Given the description of an element on the screen output the (x, y) to click on. 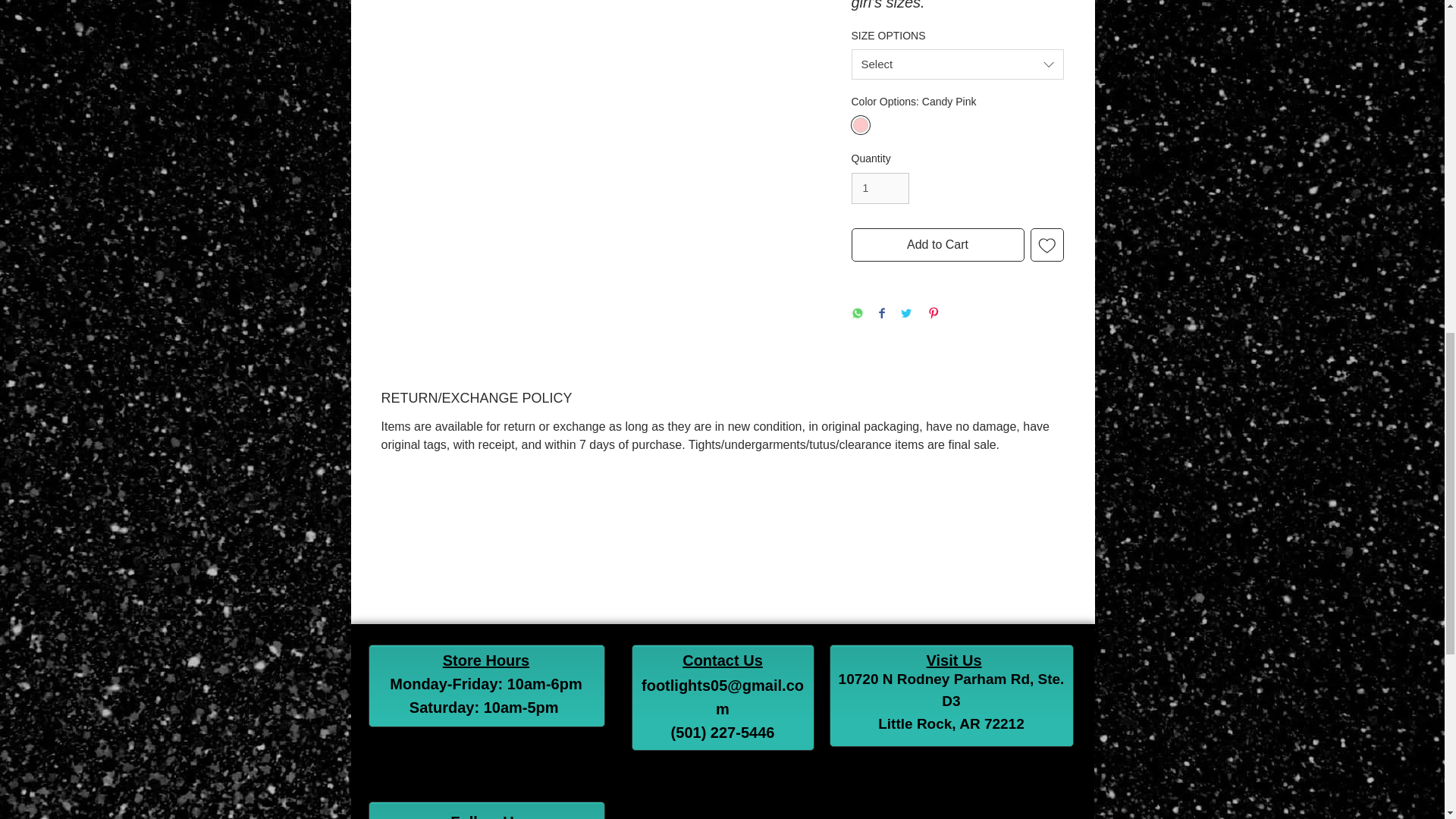
1 (879, 187)
Add to Cart (936, 244)
Select (956, 64)
